Given the description of an element on the screen output the (x, y) to click on. 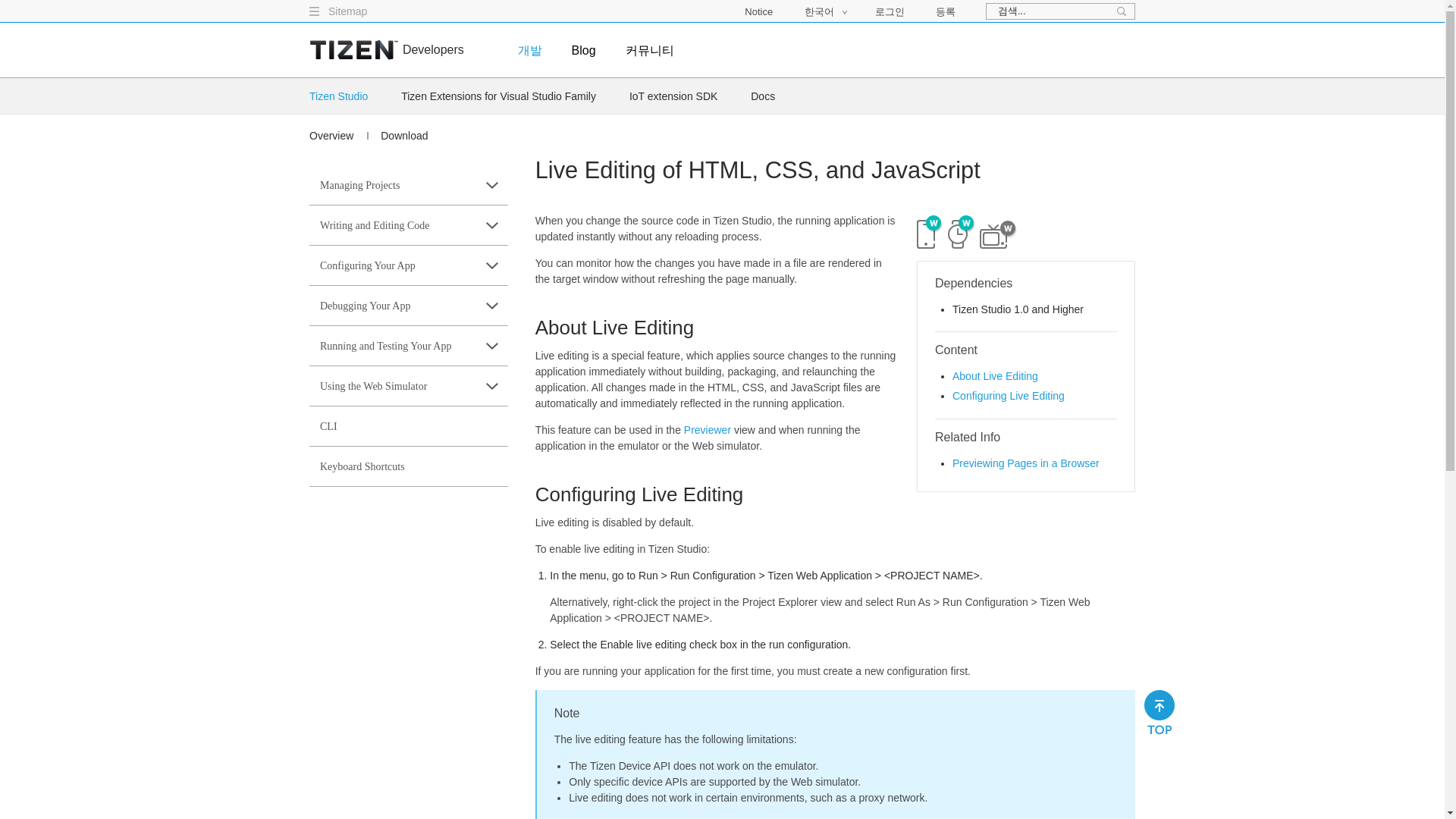
Sitemap (346, 11)
Developers (433, 49)
Notice (758, 11)
